Given the description of an element on the screen output the (x, y) to click on. 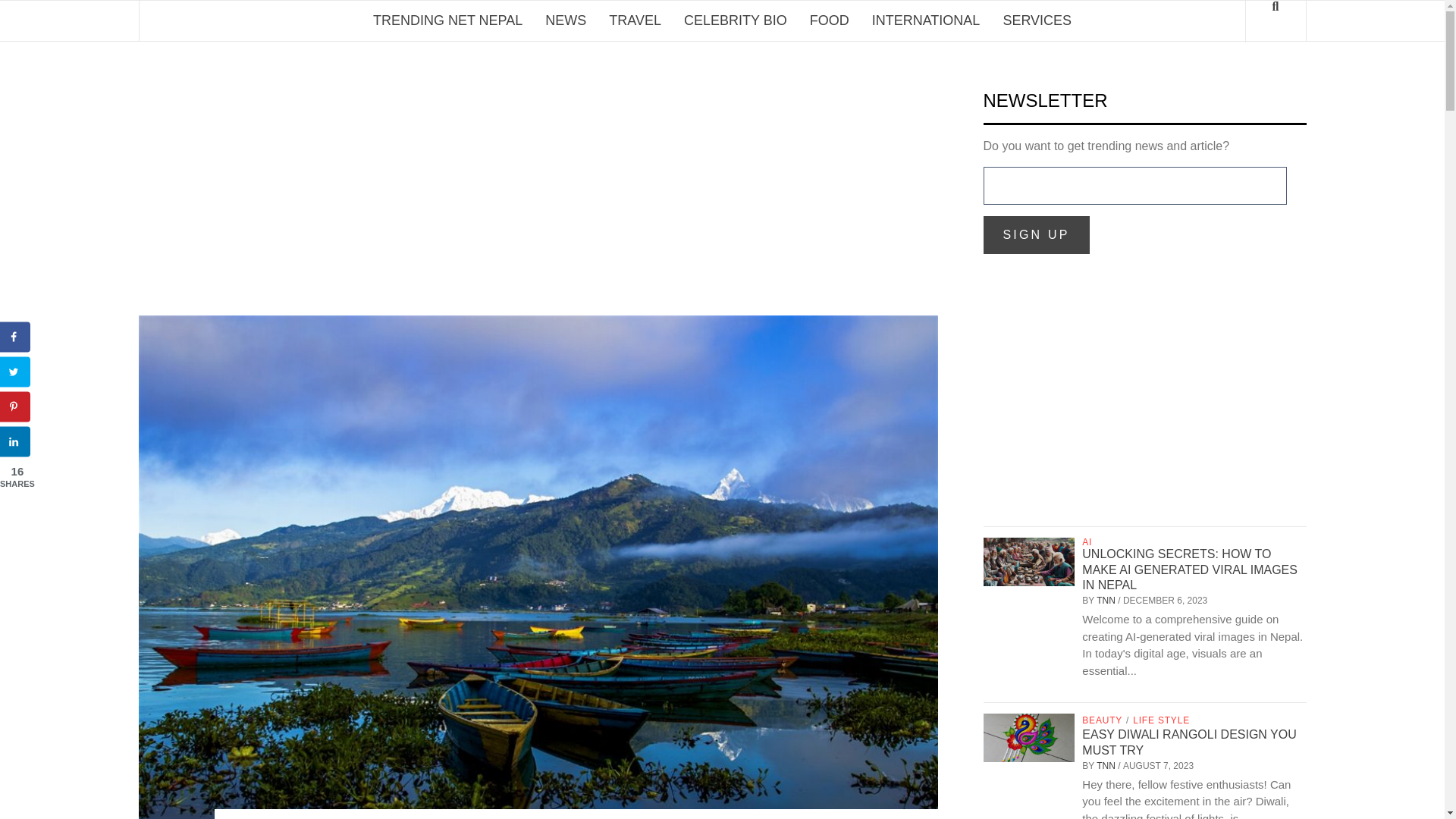
Save to Pinterest (15, 407)
Sign up (1035, 234)
TRENDING NET NEPAL (447, 20)
Share on Facebook (15, 337)
Advertisement (1144, 401)
SERVICES (1037, 20)
FOOD (828, 20)
TRAVEL (634, 20)
CELEBRITY BIO (734, 20)
